Given the description of an element on the screen output the (x, y) to click on. 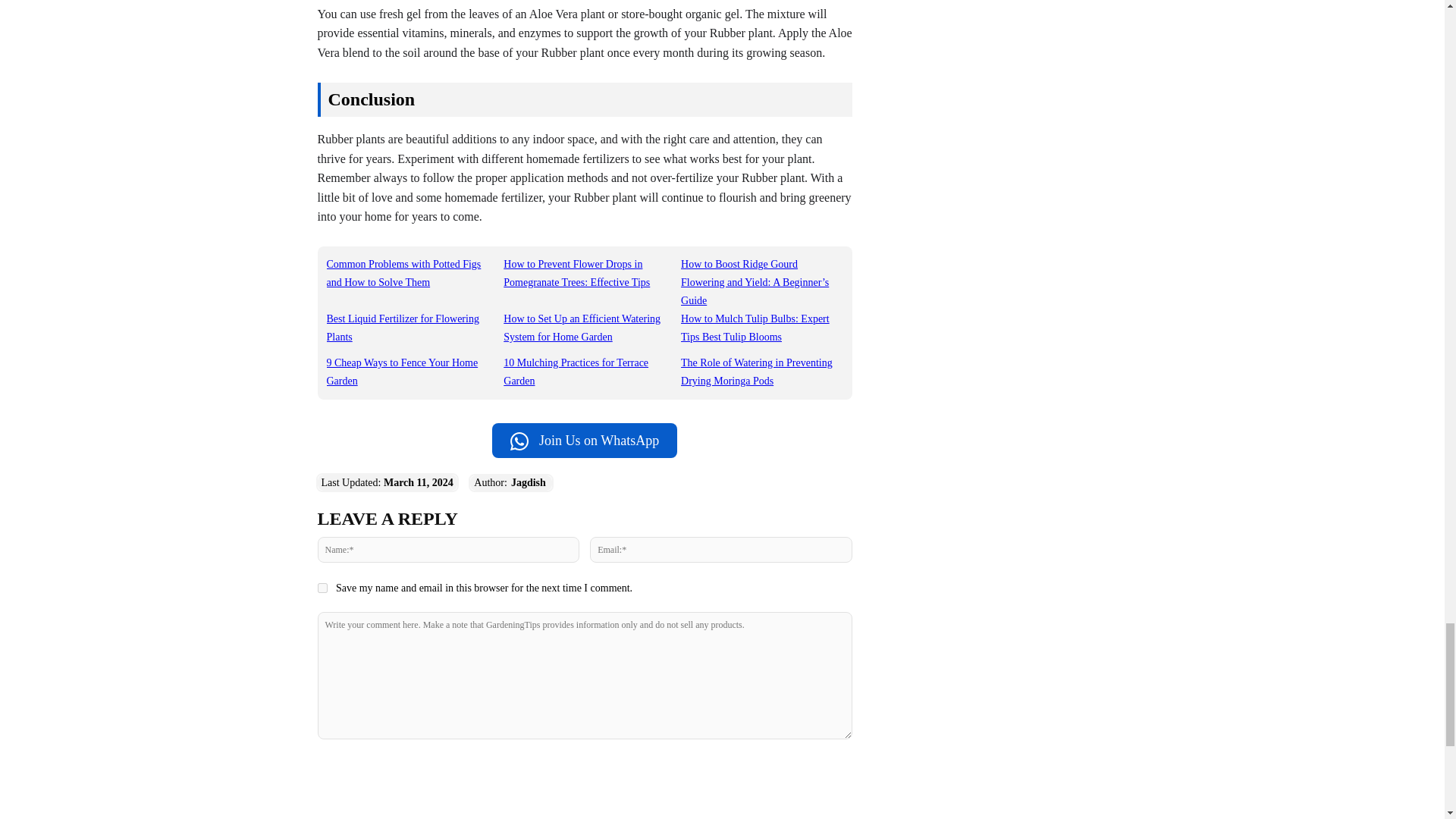
Join Us on WhatsApp (584, 440)
Post Comment (584, 769)
yes (321, 587)
